Given the description of an element on the screen output the (x, y) to click on. 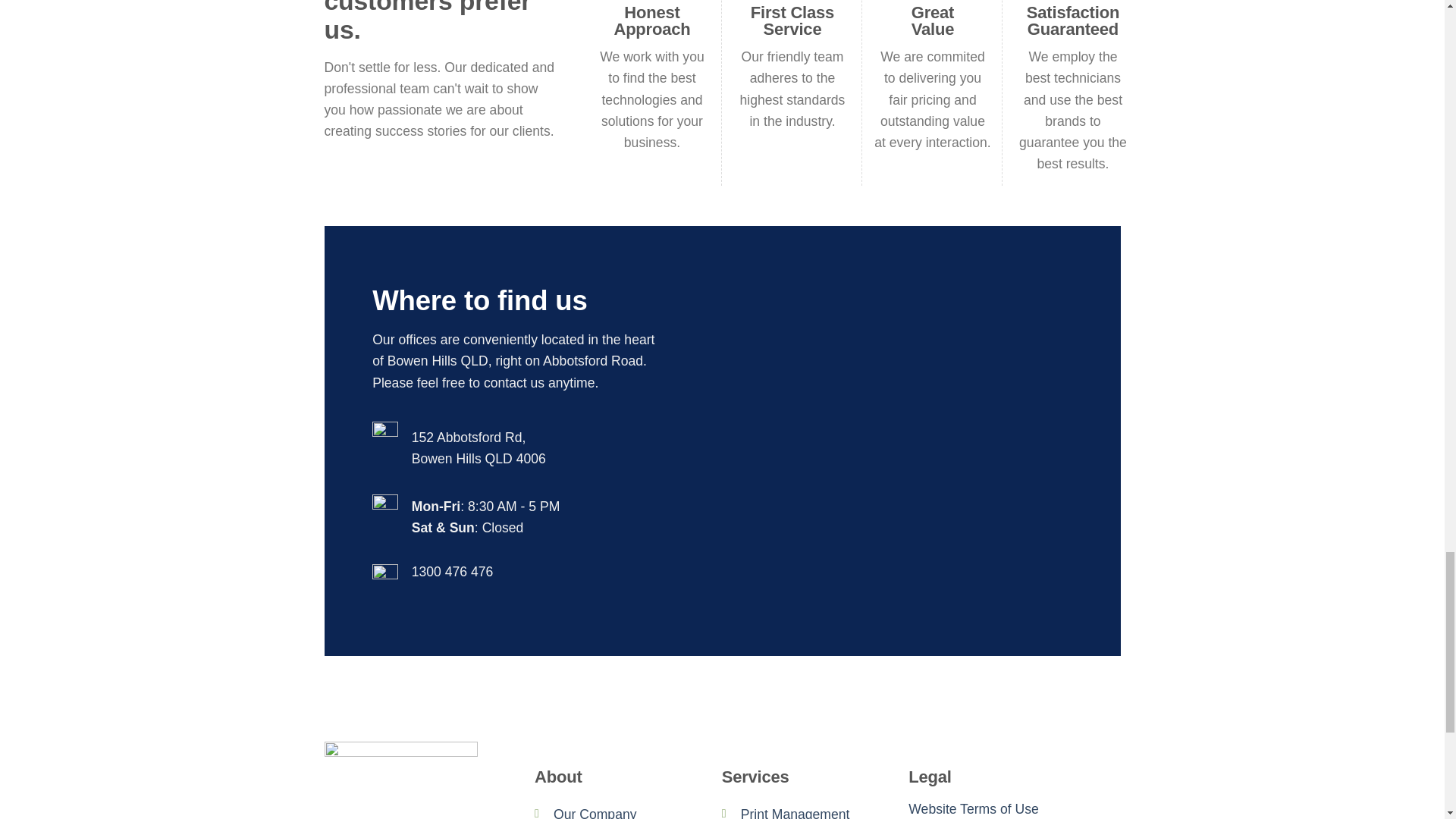
Our Company (595, 812)
Print Management (795, 812)
Website Terms of Use (973, 808)
